Given the description of an element on the screen output the (x, y) to click on. 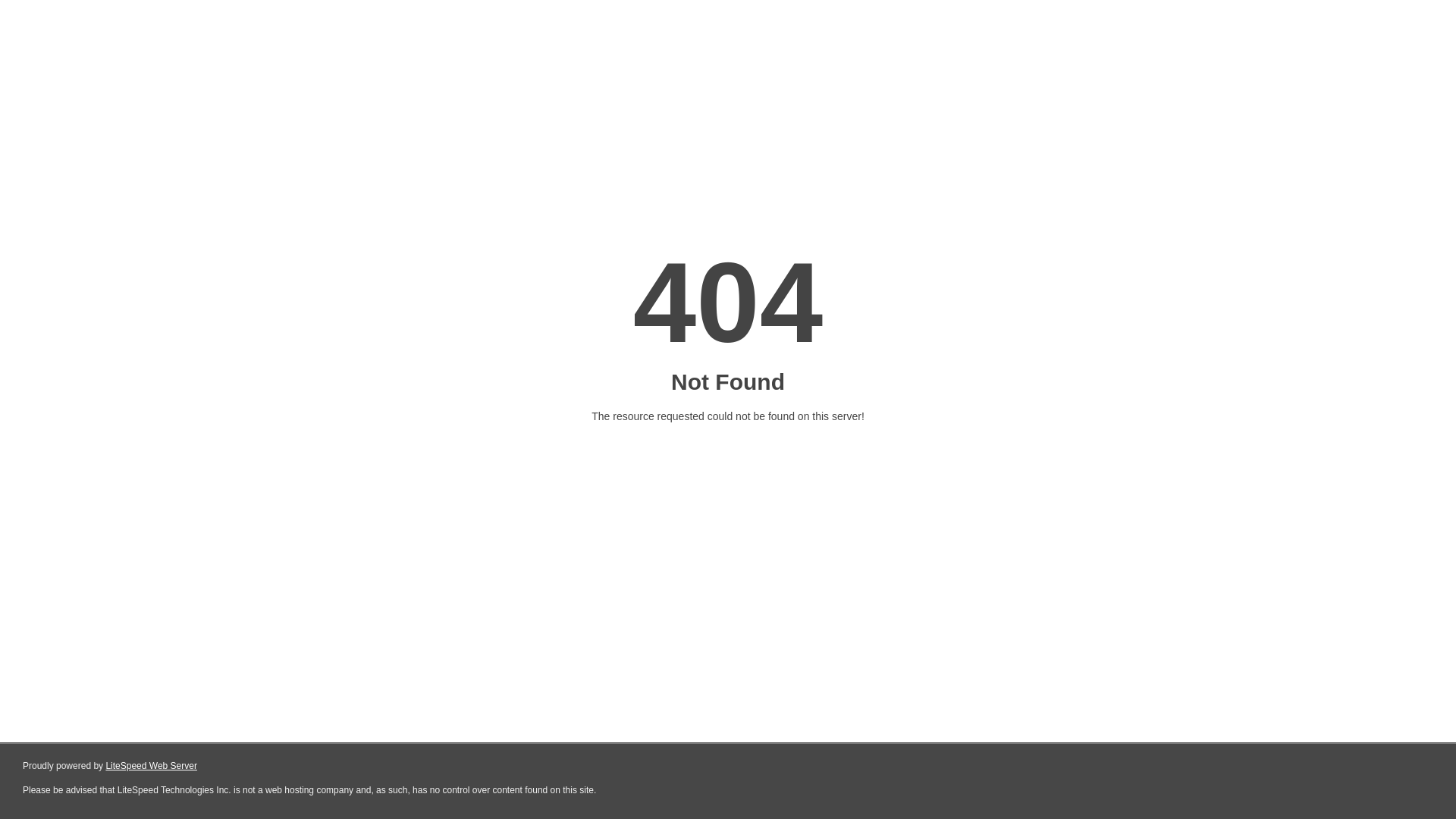
LiteSpeed Web Server Element type: text (151, 765)
